Given the description of an element on the screen output the (x, y) to click on. 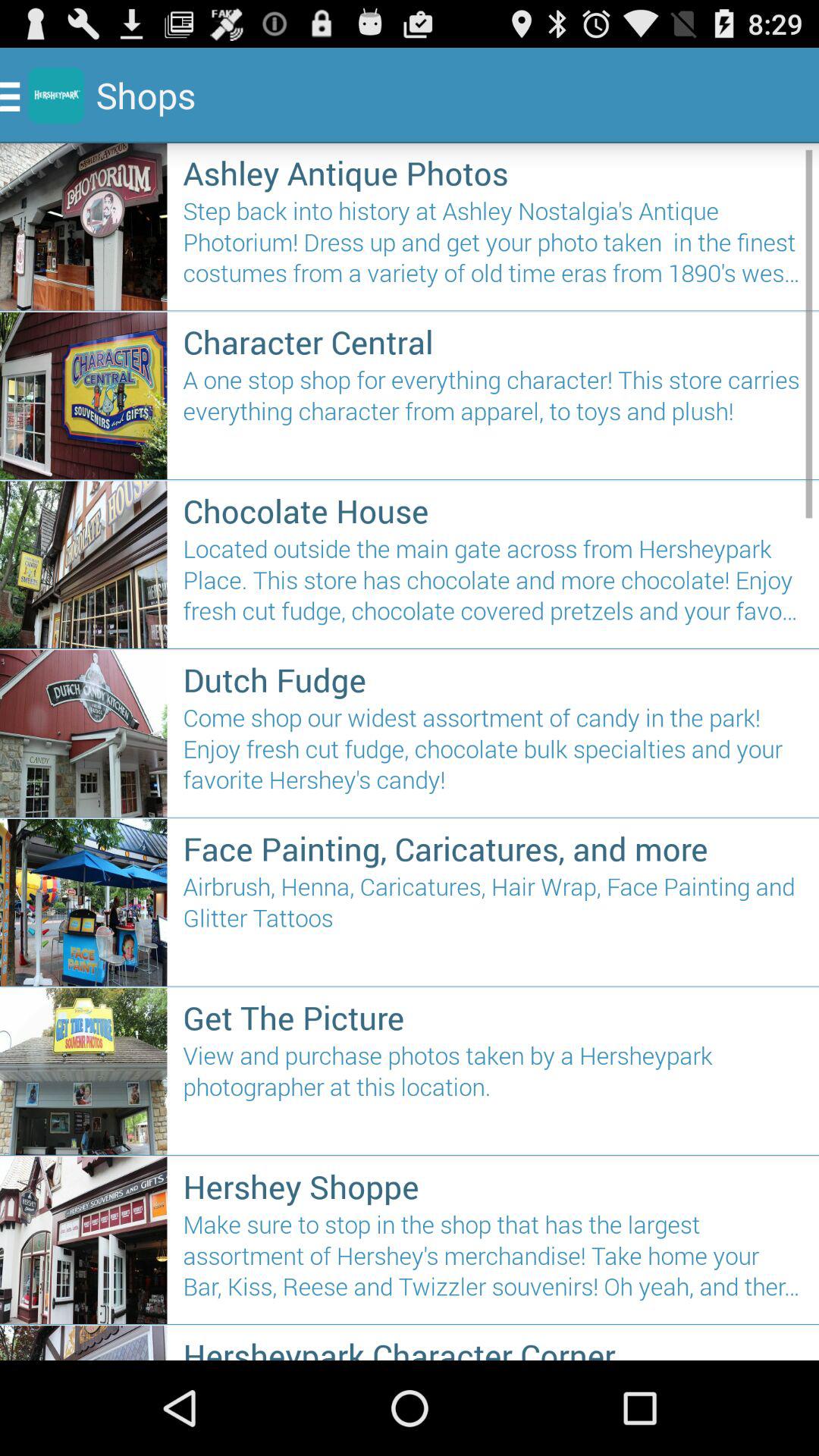
press item below make sure to (493, 1346)
